Given the description of an element on the screen output the (x, y) to click on. 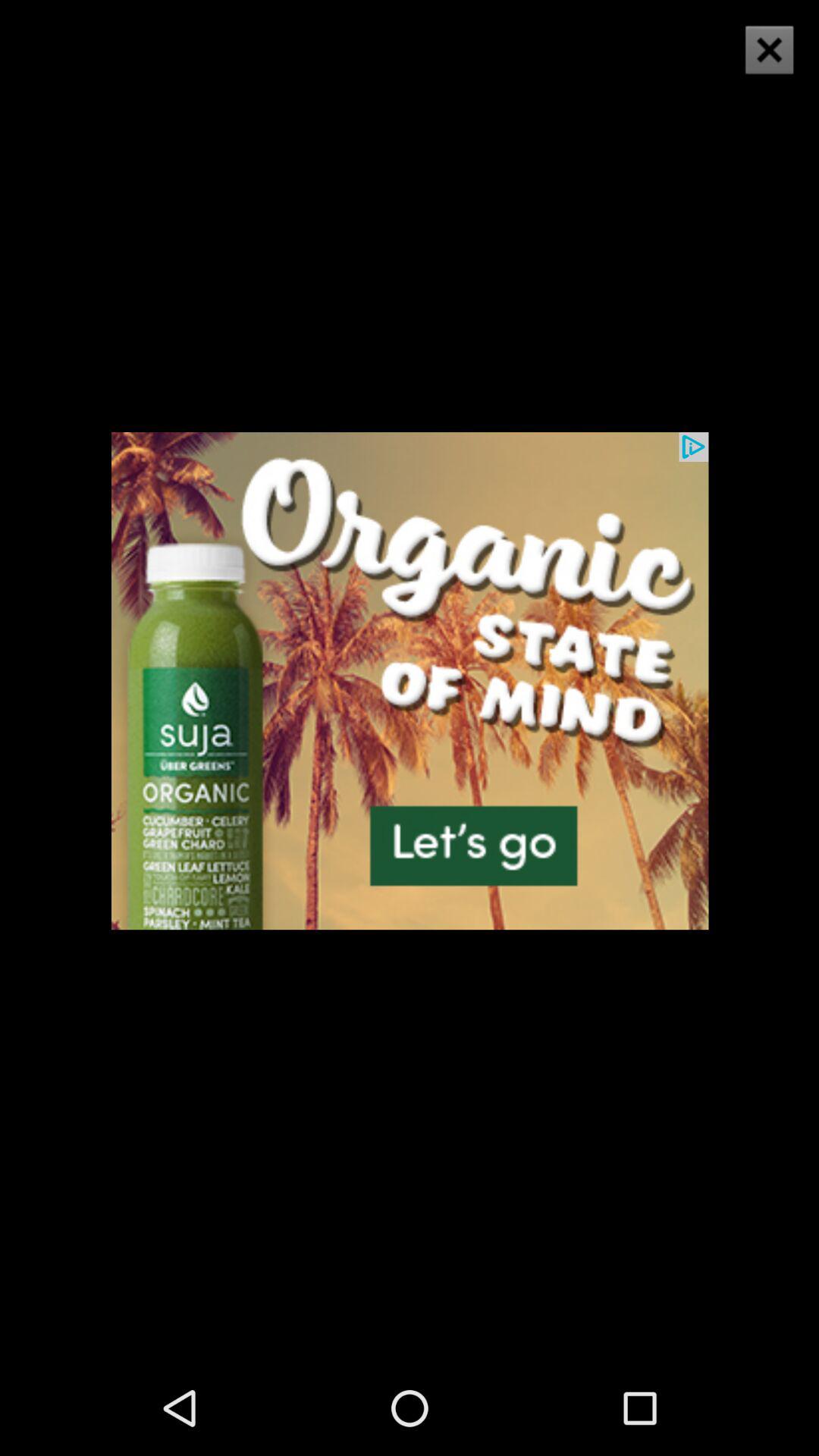
launch the item at the center (409, 680)
